Given the description of an element on the screen output the (x, y) to click on. 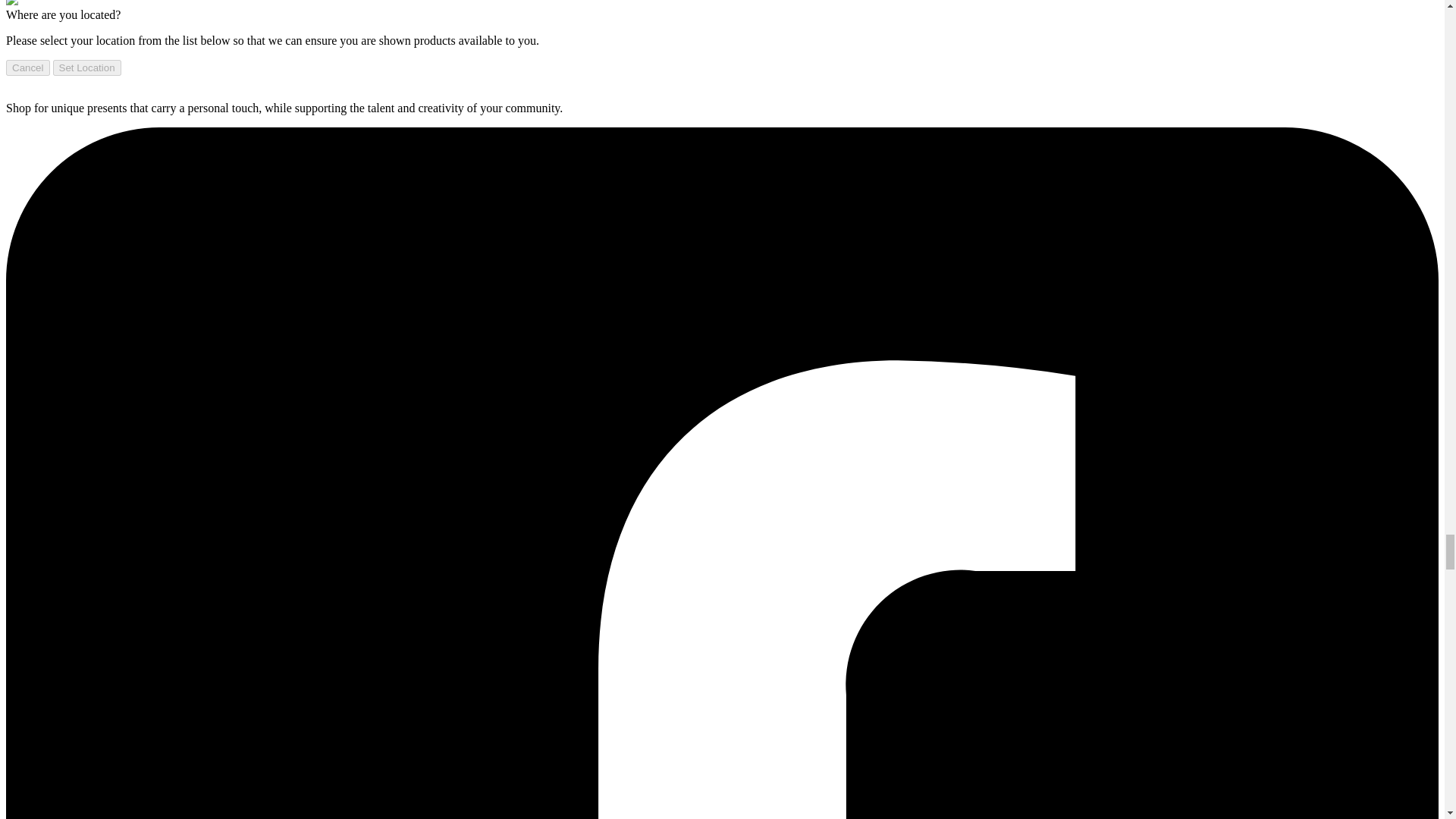
Set Location (86, 67)
Cancel (27, 67)
